Given the description of an element on the screen output the (x, y) to click on. 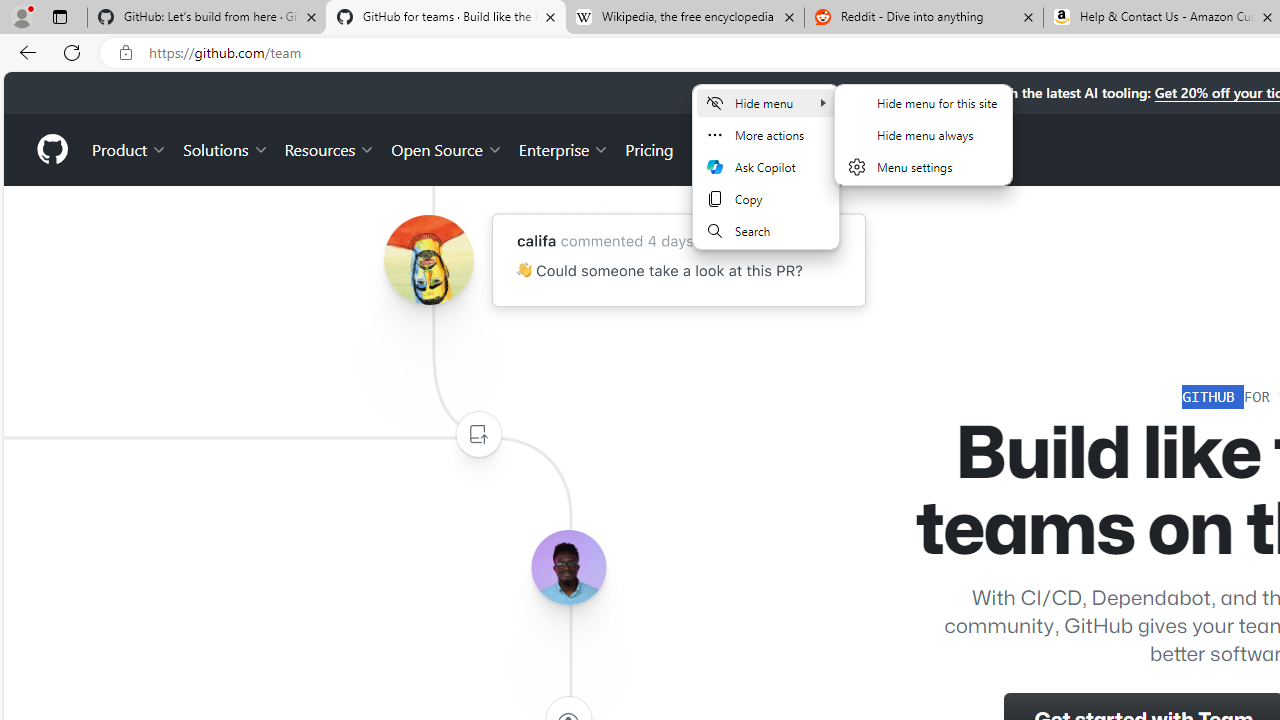
Open Source (446, 148)
Menu settings (923, 166)
Class: color-fg-muted width-full (478, 434)
Wikipedia, the free encyclopedia (684, 17)
